Given the description of an element on the screen output the (x, y) to click on. 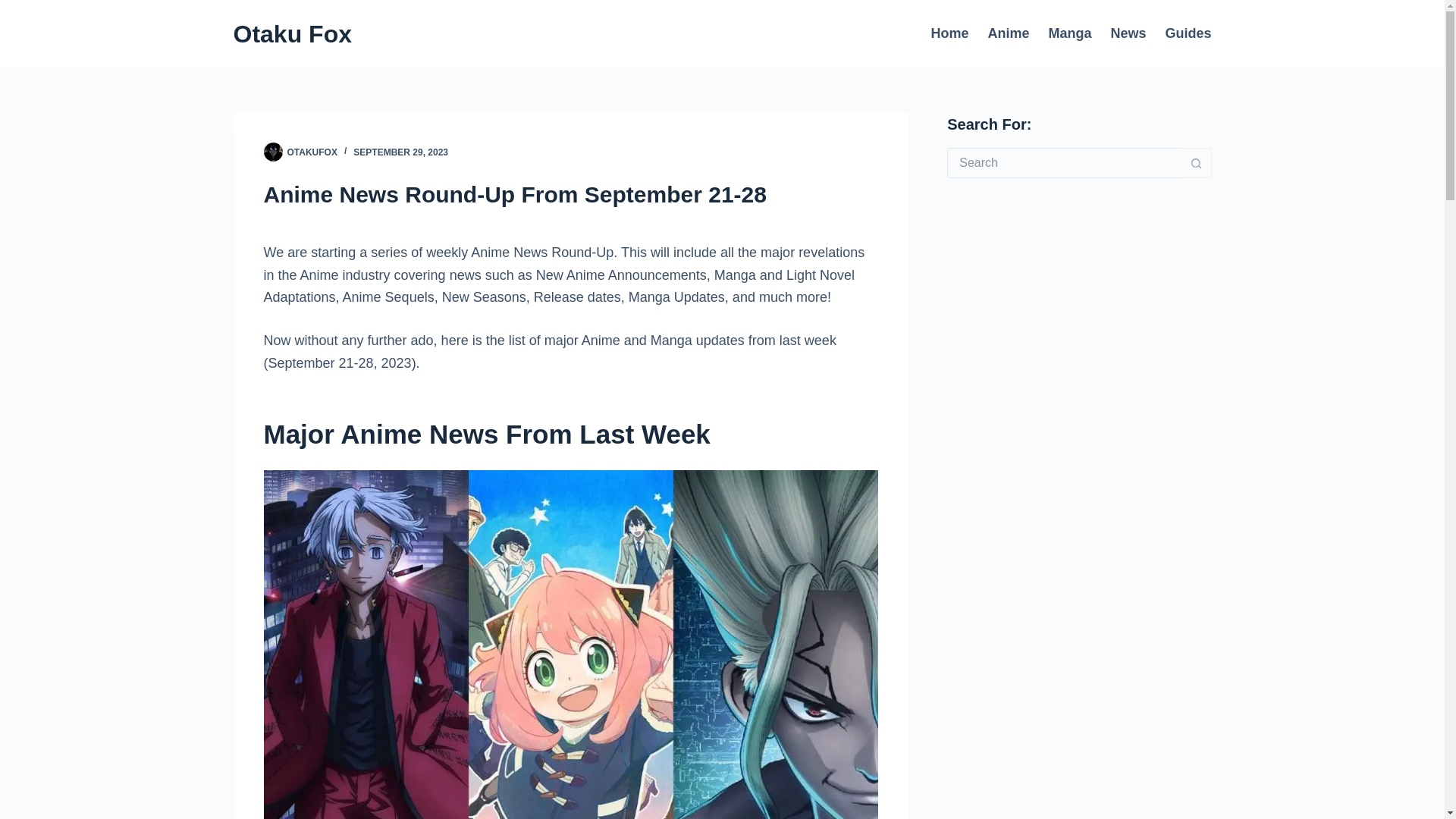
Otaku Fox (292, 32)
Search for... (1063, 163)
Anime (1008, 33)
Manga (1069, 33)
Posts by OtakuFox (311, 152)
OTAKUFOX (311, 152)
Skip to content (15, 7)
Anime News Round-Up From September 21-28 (570, 194)
